Given the description of an element on the screen output the (x, y) to click on. 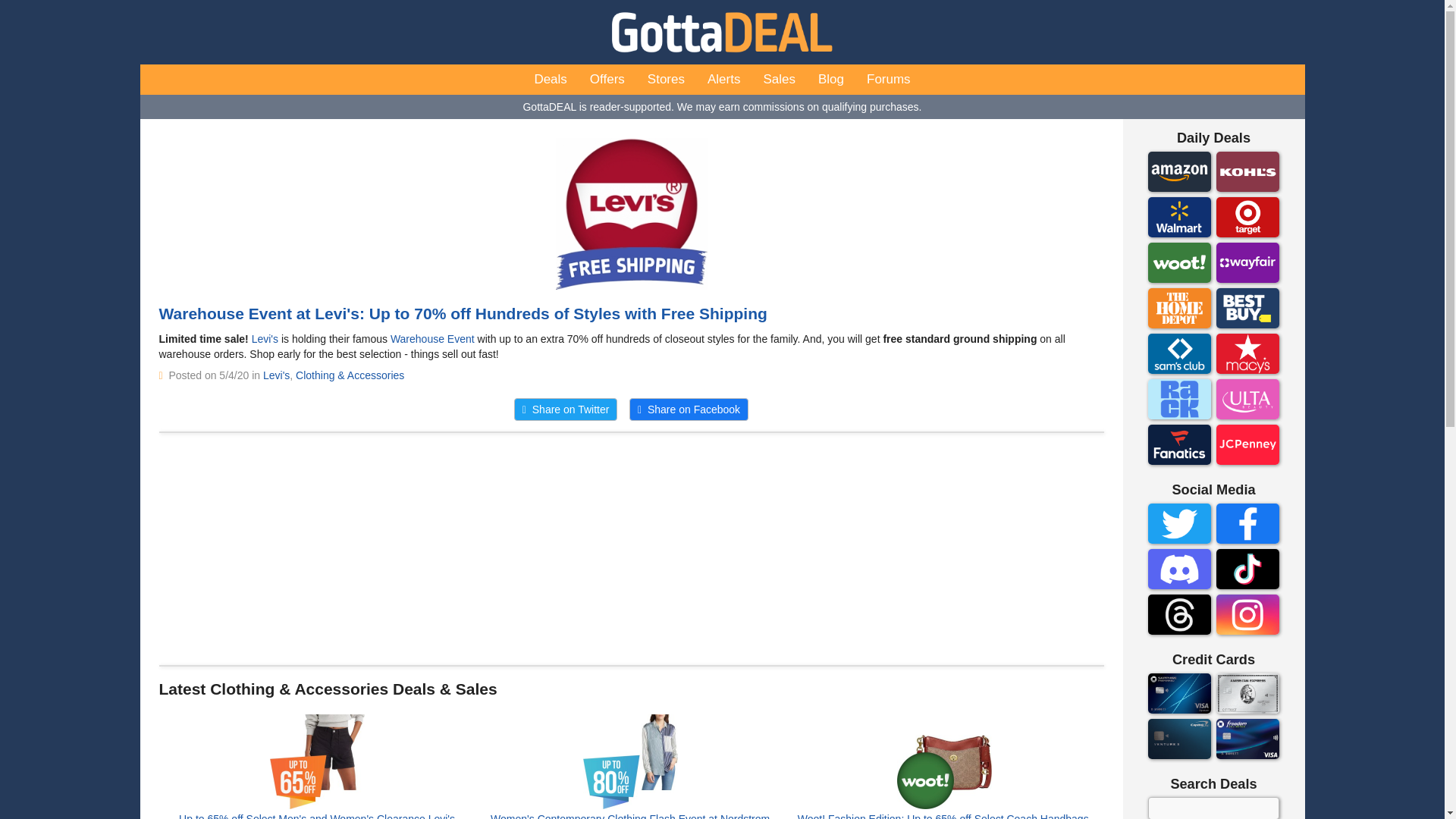
Stores (665, 79)
Offers (607, 79)
  Share on Twitter (565, 409)
Forums (888, 79)
  Share on Facebook (688, 409)
Deals (550, 79)
Warehouse Event (432, 338)
Blog (831, 79)
GottaDEAL - Why pay retail? (722, 32)
Alerts (723, 79)
Levi's (264, 338)
Levi's (276, 375)
Sales (778, 79)
